Given the description of an element on the screen output the (x, y) to click on. 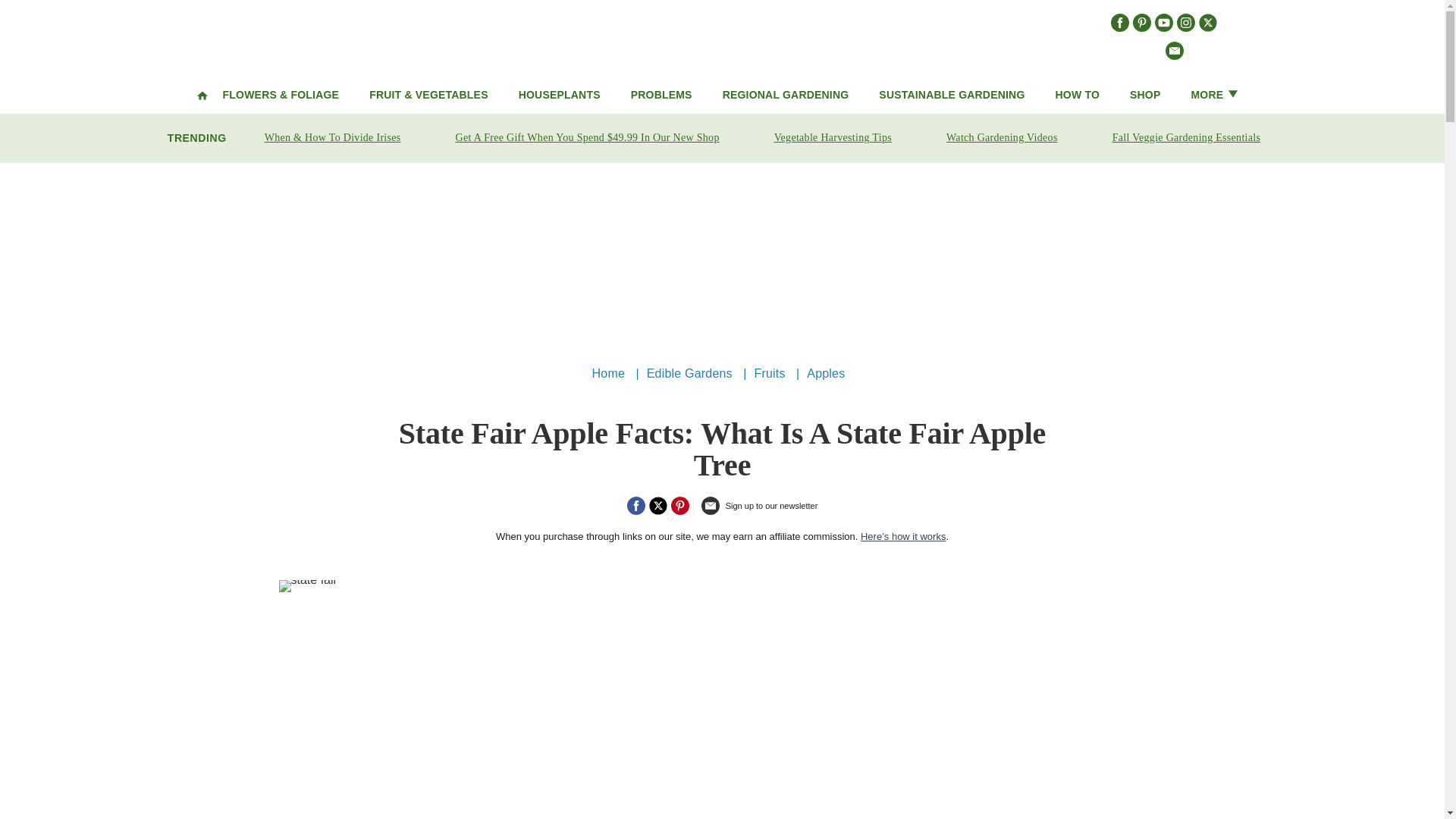
SUSTAINABLE GARDENING (952, 94)
PROBLEMS (661, 94)
REGIONAL GARDENING (785, 94)
HOUSEPLANTS (558, 94)
